Given the description of an element on the screen output the (x, y) to click on. 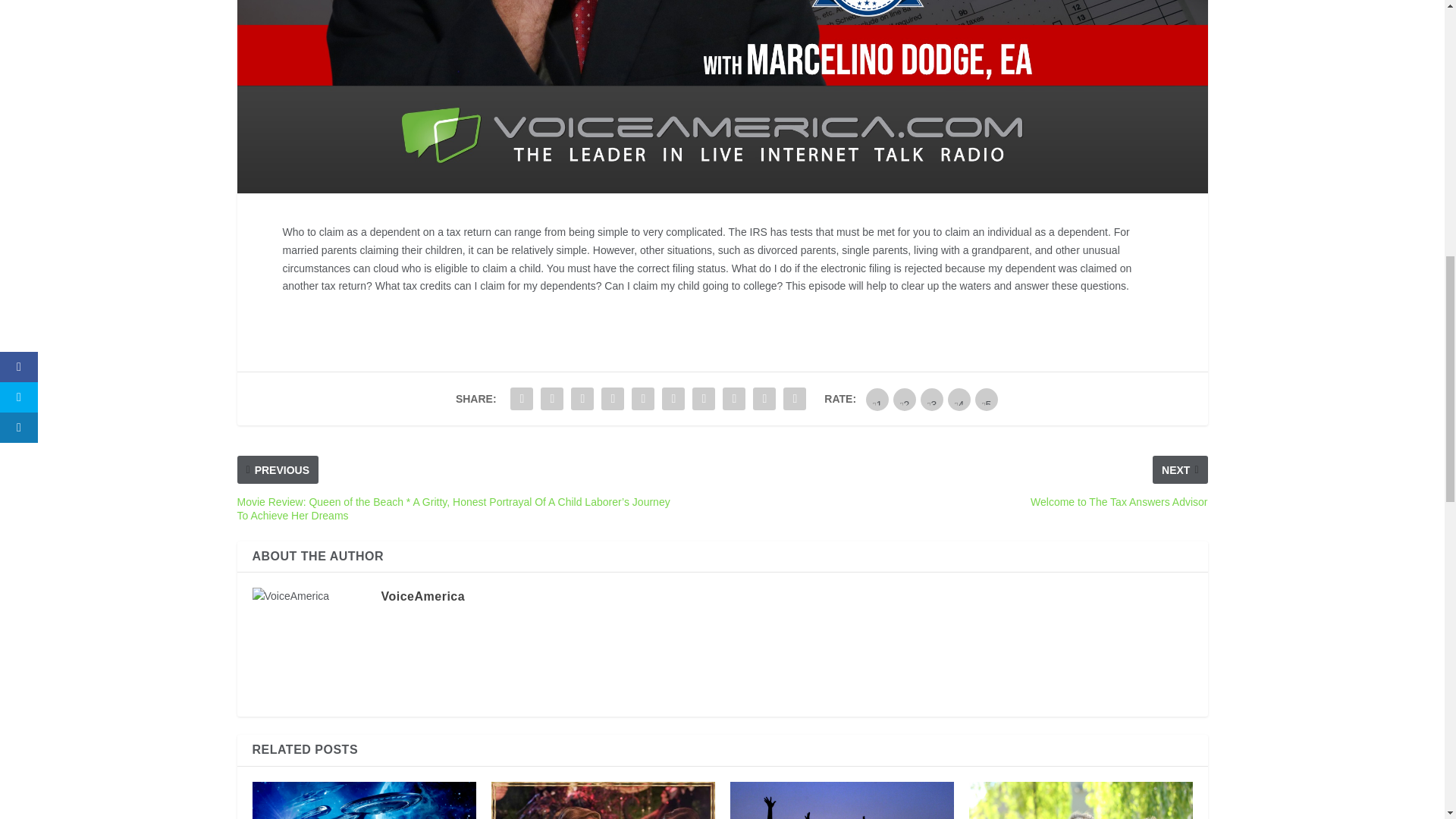
Share "Who Is My Dependent?" via Buffer (703, 399)
Share "Who Is My Dependent?" via Pinterest (642, 399)
Share "Who Is My Dependent?" via LinkedIn (673, 399)
Share "Who Is My Dependent?" via Tumblr (611, 399)
Share "Who Is My Dependent?" via Email (763, 399)
Share "Who Is My Dependent?" via Facebook (521, 399)
Share "Who Is My Dependent?" via Stumbleupon (734, 399)
Share "Who Is My Dependent?" via Print (793, 399)
Share "Who Is My Dependent?" via Twitter (552, 399)
